Given the description of an element on the screen output the (x, y) to click on. 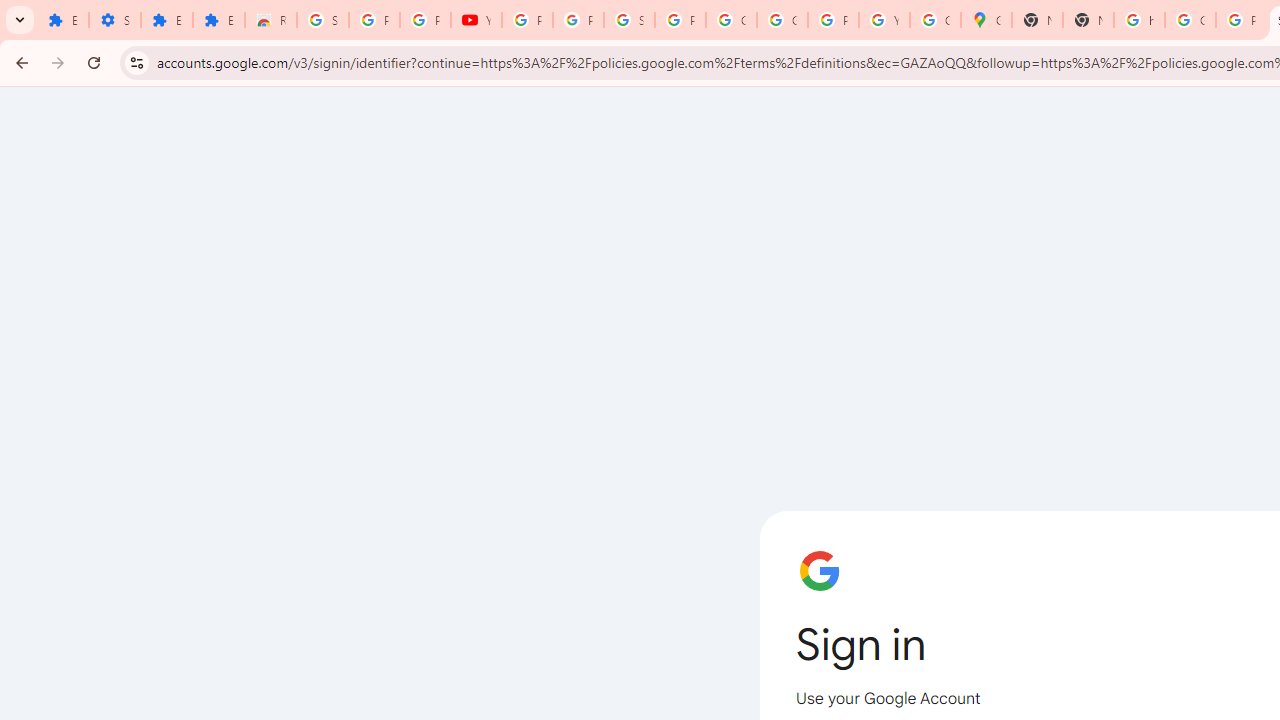
Reviews: Helix Fruit Jump Arcade Game (270, 20)
Sign in - Google Accounts (629, 20)
New Tab (1087, 20)
Google Maps (986, 20)
Sign in - Google Accounts (323, 20)
Extensions (166, 20)
